Given the description of an element on the screen output the (x, y) to click on. 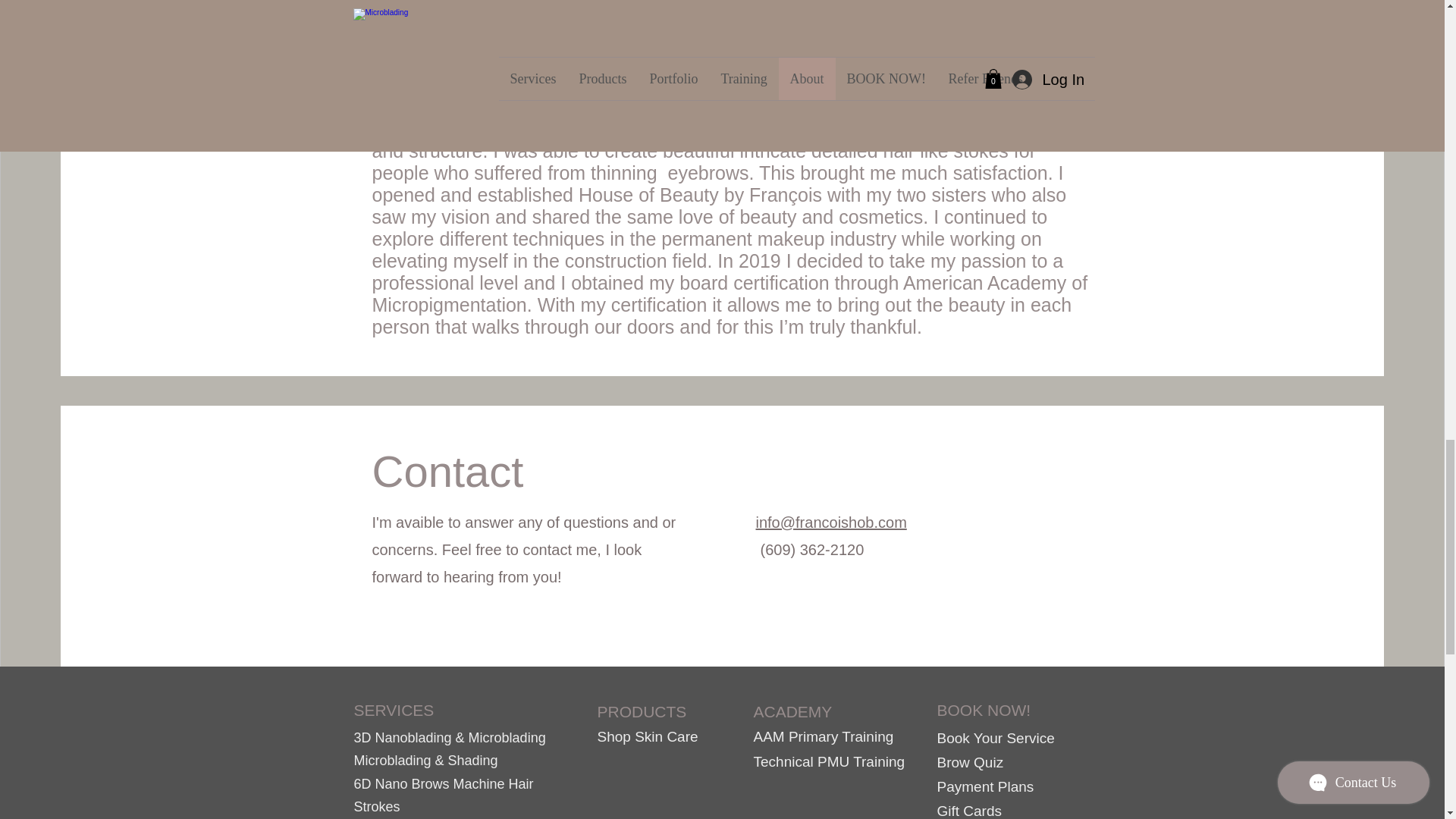
SERVICES (393, 710)
6D Nano Brows Machine Hair Strokes (442, 795)
PRODUCTS (641, 711)
